Given the description of an element on the screen output the (x, y) to click on. 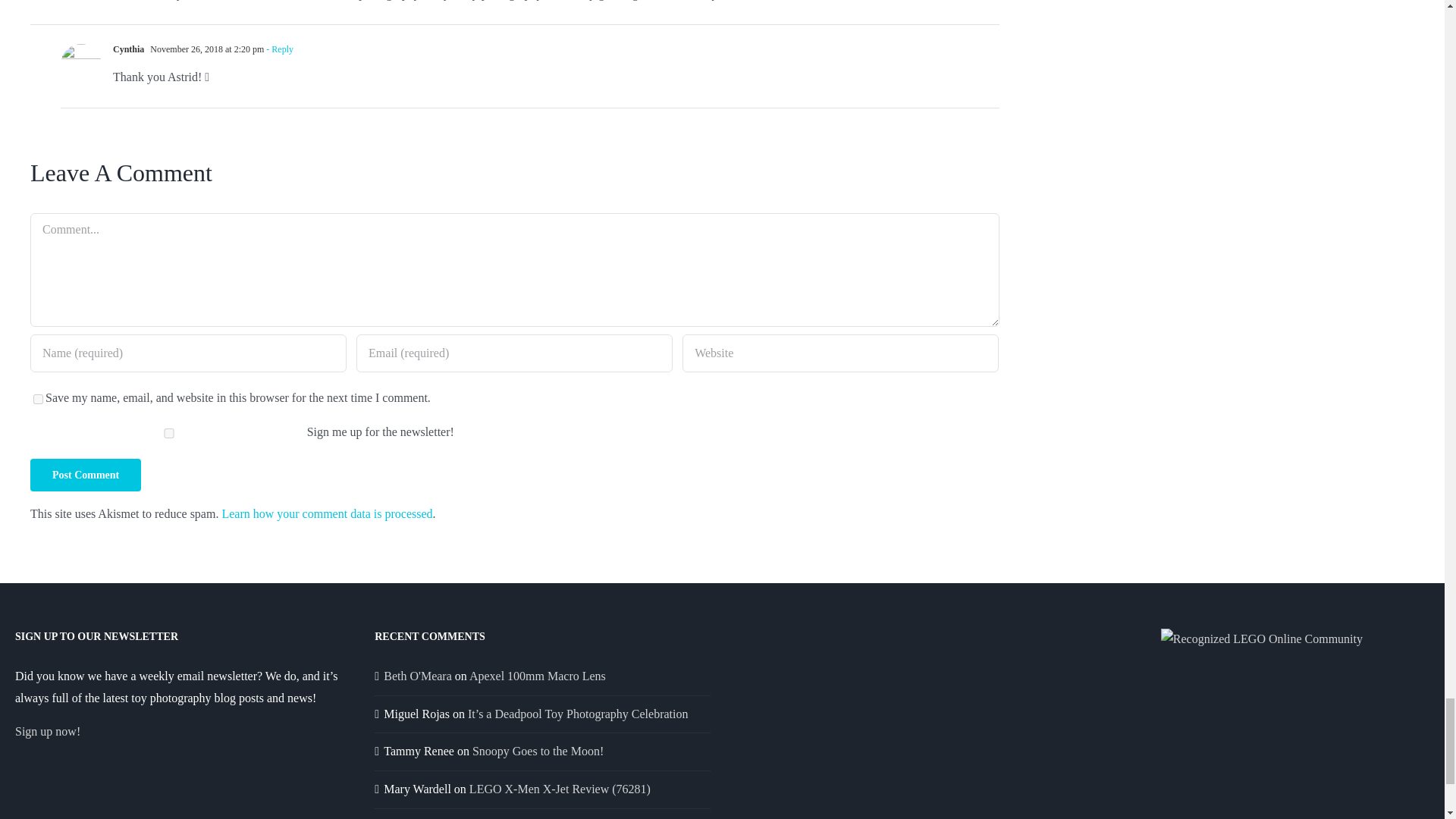
1 (168, 433)
yes (38, 398)
Post Comment (85, 474)
